Given the description of an element on the screen output the (x, y) to click on. 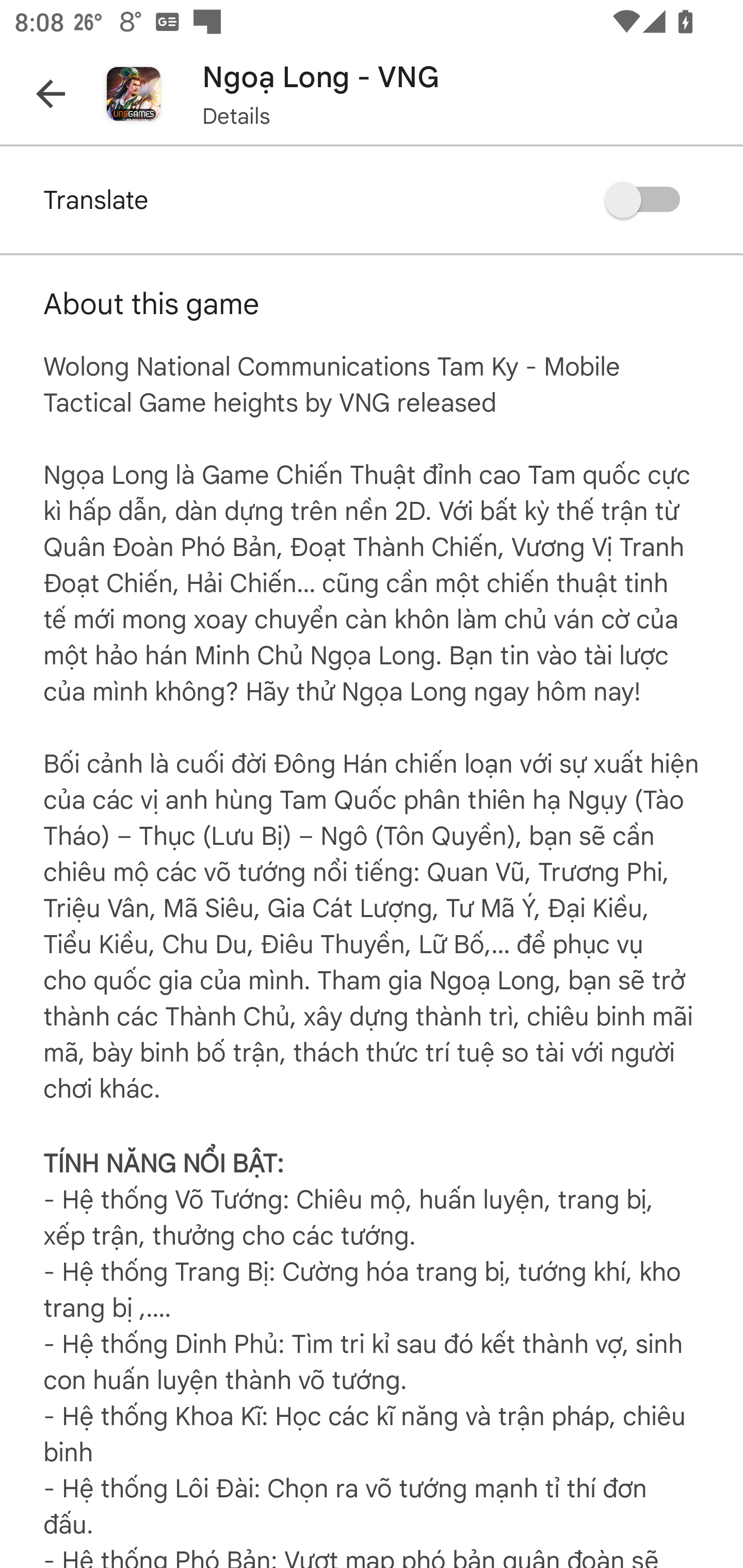
Navigate up (50, 93)
